Given the description of an element on the screen output the (x, y) to click on. 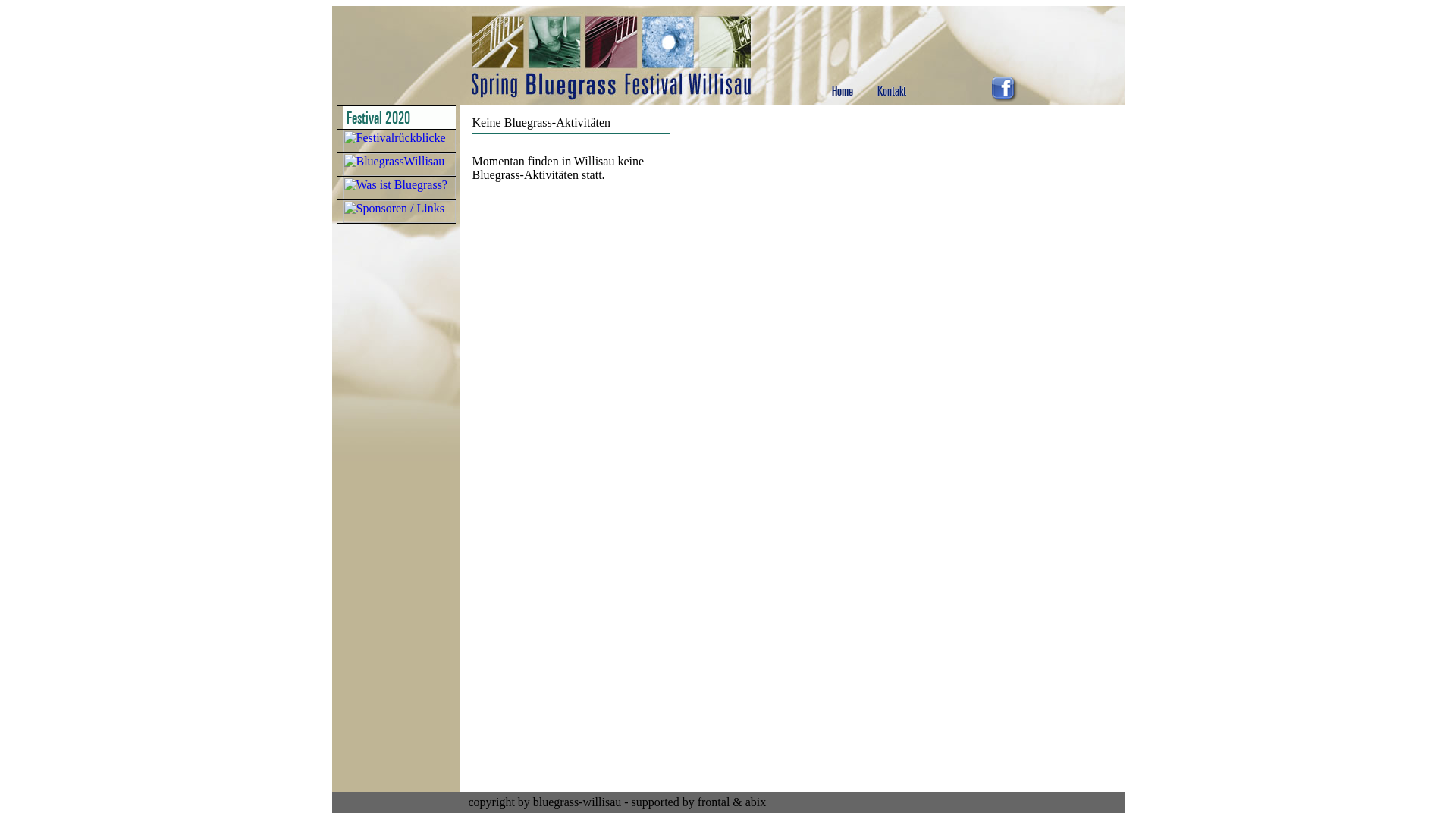
Spring Bluegrass Festival bei Facebook Element type: hover (1004, 97)
